Given the description of an element on the screen output the (x, y) to click on. 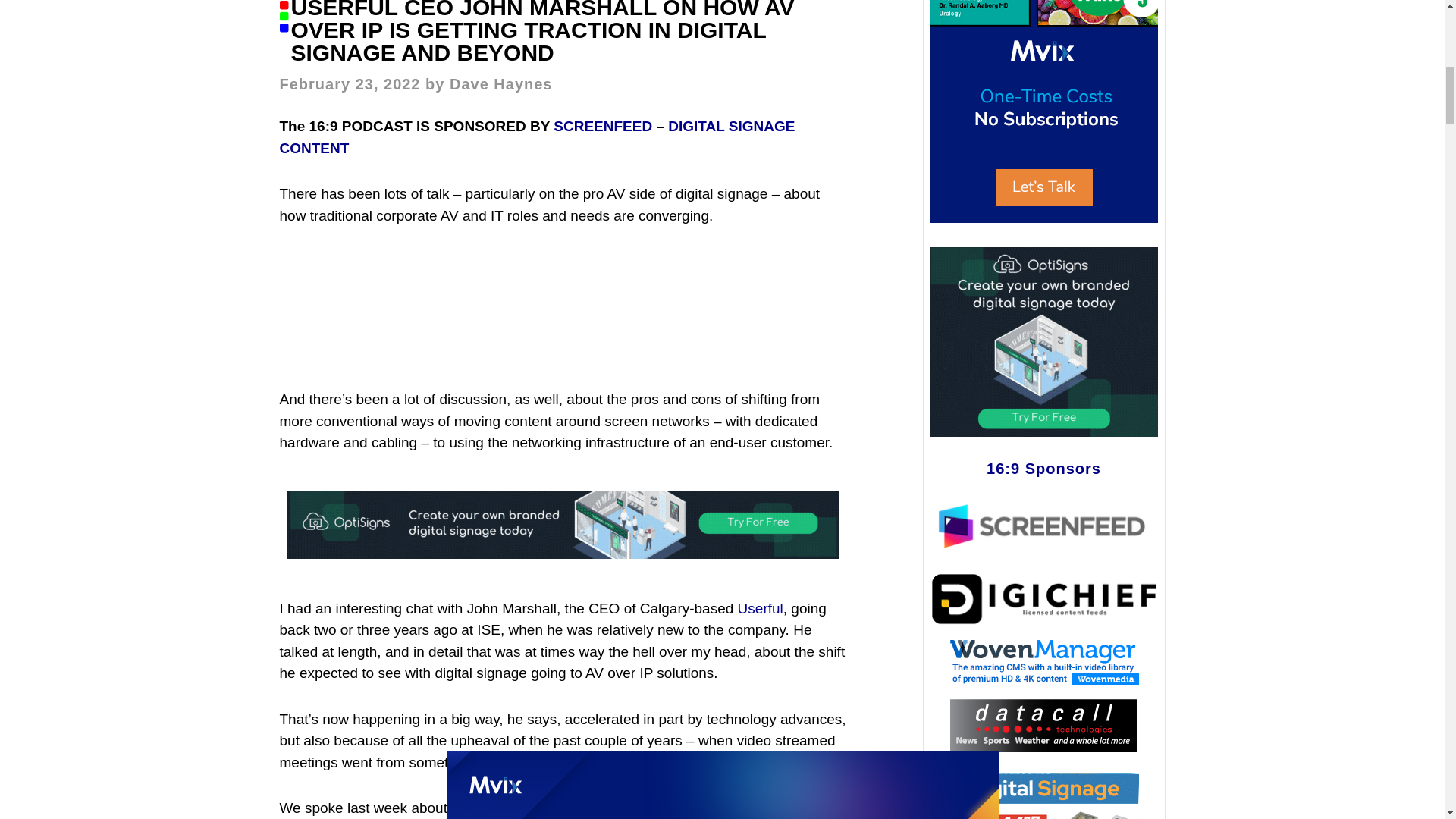
DIGITAL SIGNAGE CONTENT (536, 136)
Userful (760, 608)
John Marshall, Userful (562, 307)
SCREENFEED (602, 125)
